Given the description of an element on the screen output the (x, y) to click on. 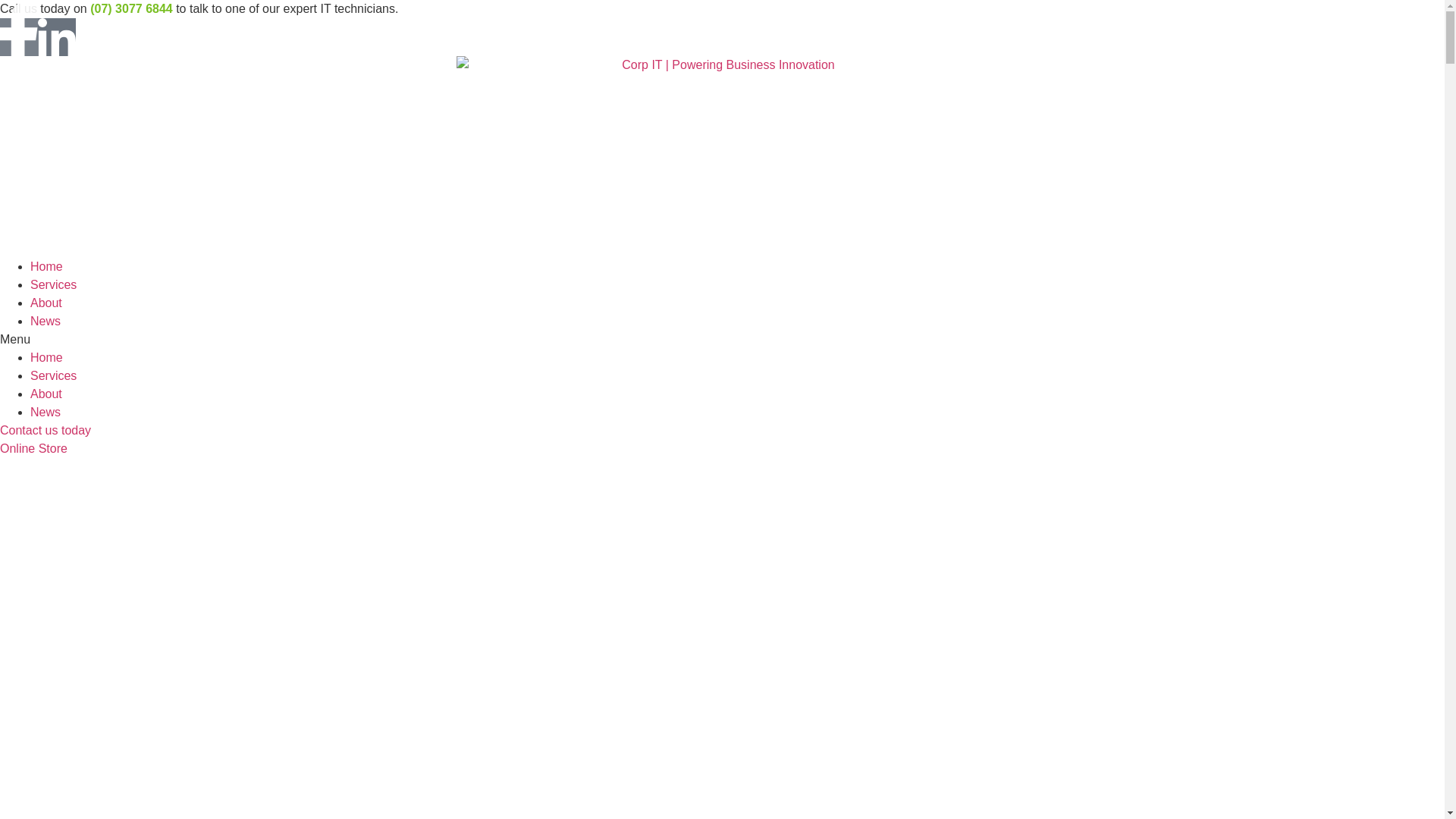
Services Element type: text (53, 375)
Online Store Element type: text (33, 448)
Contact us today Element type: text (45, 429)
News Element type: text (45, 411)
News Element type: text (45, 320)
Home Element type: text (46, 357)
About Element type: text (46, 302)
About Element type: text (46, 393)
Home Element type: text (46, 266)
Skip to content Element type: text (0, 0)
(07) 3077 6844 Element type: text (131, 8)
Services Element type: text (53, 284)
